Given the description of an element on the screen output the (x, y) to click on. 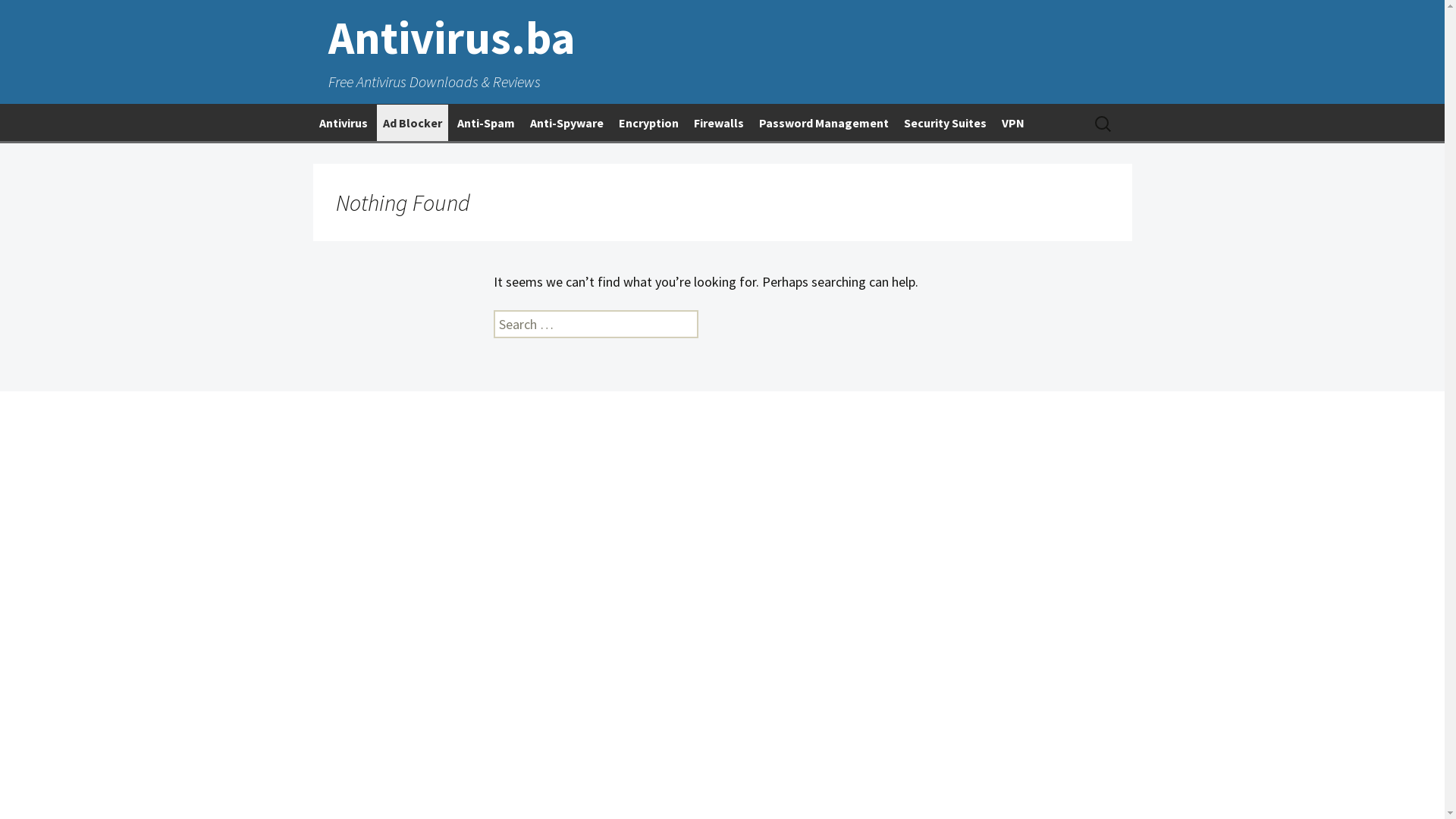
Anti-Spyware Element type: text (565, 122)
VPN Element type: text (1011, 122)
Security Suites Element type: text (944, 122)
Antivirus Element type: text (342, 122)
Password Management Element type: text (823, 122)
Search Element type: text (37, 17)
Search Element type: text (18, 17)
Firewalls Element type: text (718, 122)
Ad Blocker Element type: text (411, 122)
Encryption Element type: text (648, 122)
Skip to content Element type: text (355, 114)
Anti-Spam Element type: text (485, 122)
Antivirus.ba
Free Antivirus Downloads & Reviews Element type: text (721, 52)
